Given the description of an element on the screen output the (x, y) to click on. 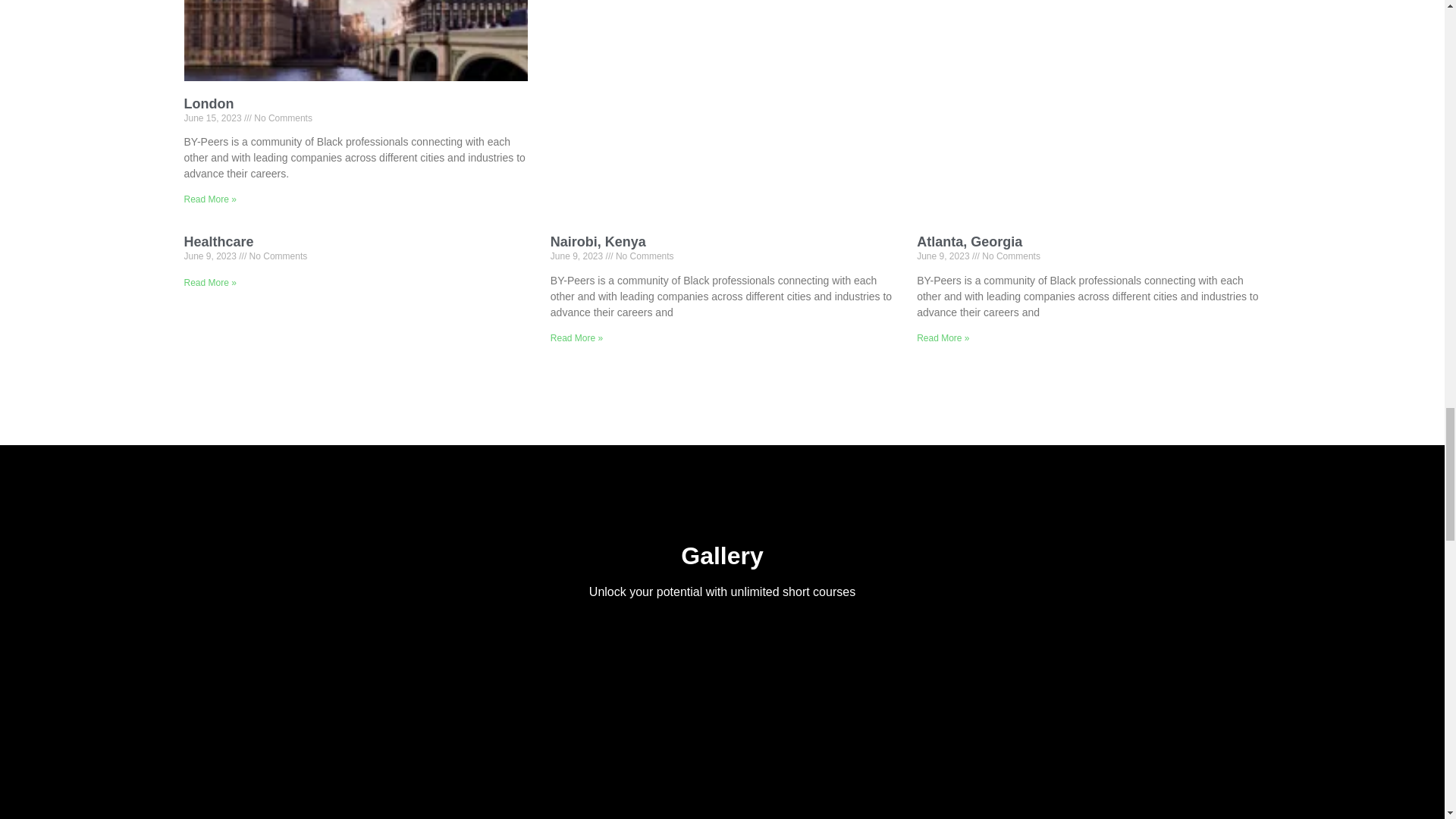
London (207, 103)
Nairobi, Kenya (598, 241)
Atlanta, Georgia (969, 241)
Healthcare (218, 241)
